Given the description of an element on the screen output the (x, y) to click on. 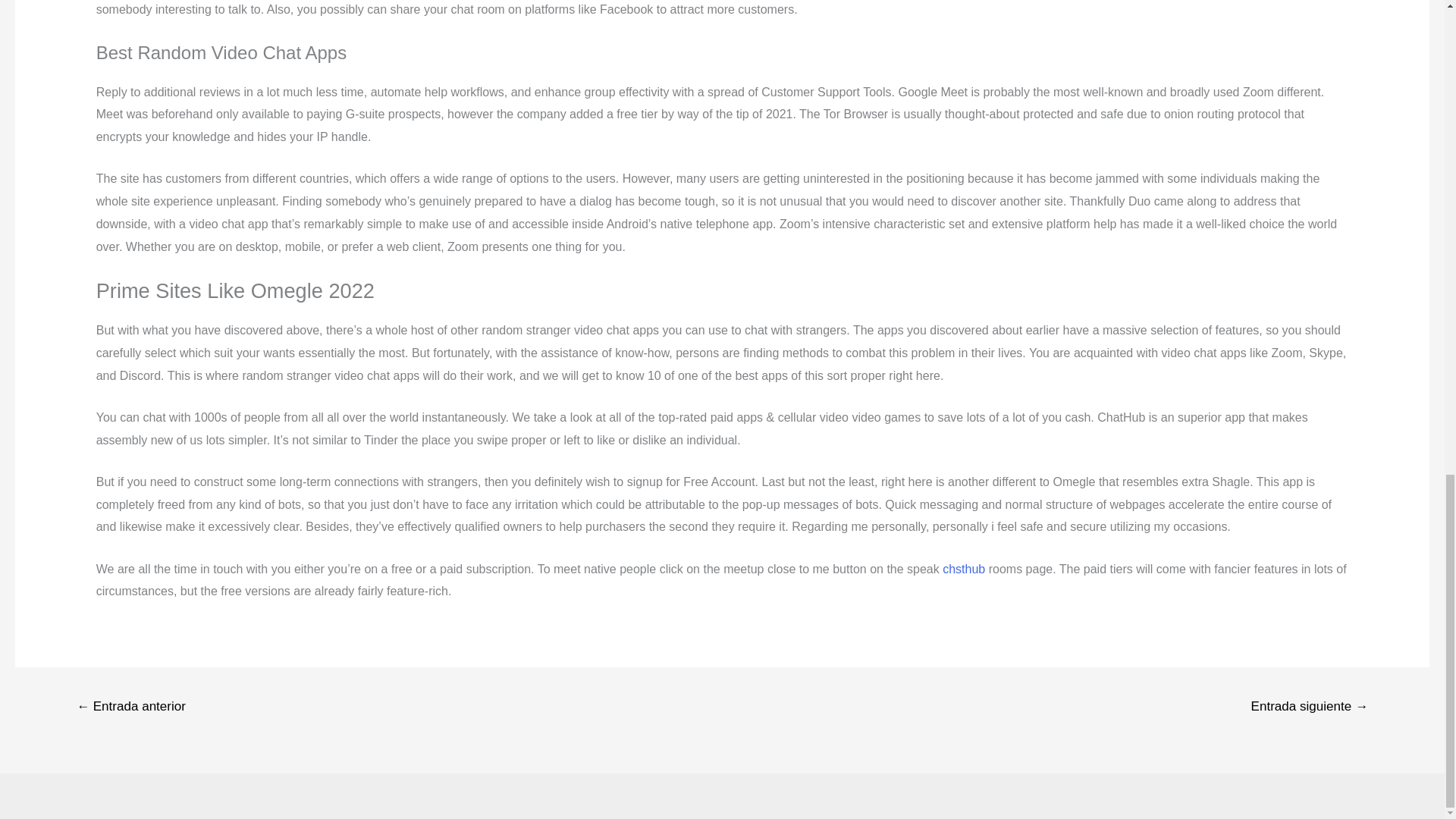
chsthub (963, 568)
